Given the description of an element on the screen output the (x, y) to click on. 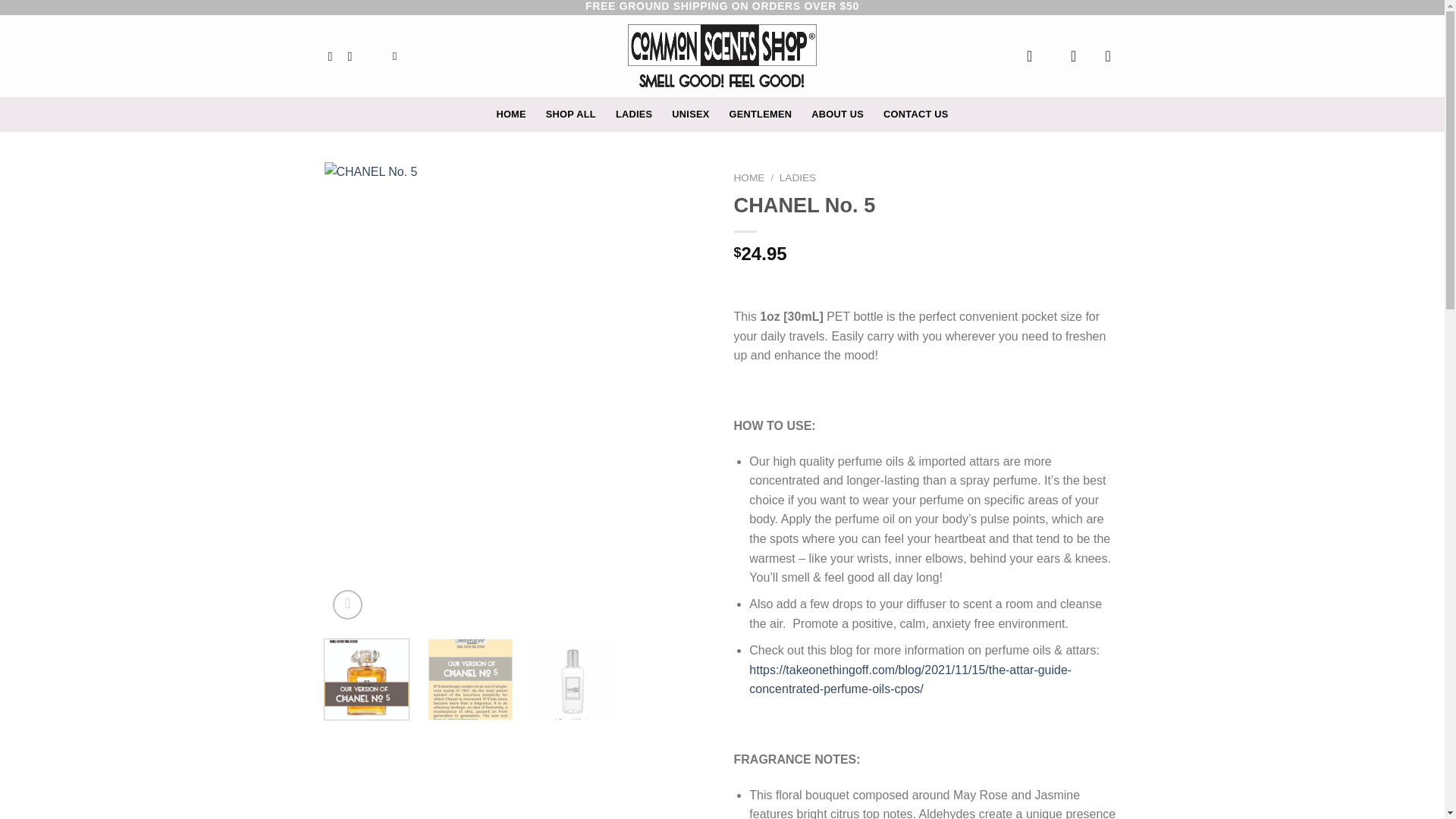
HOME (749, 177)
GENTLEMEN (760, 114)
ABOUT US (836, 114)
Zoom (347, 604)
SHOP ALL (570, 114)
CONTACT US (916, 114)
LADIES (633, 114)
LADIES (796, 177)
Cart (1113, 55)
UNISEX (690, 114)
Follow on Facebook (333, 56)
Common Scents Shop (721, 56)
Follow on Instagram (353, 56)
